Given the description of an element on the screen output the (x, y) to click on. 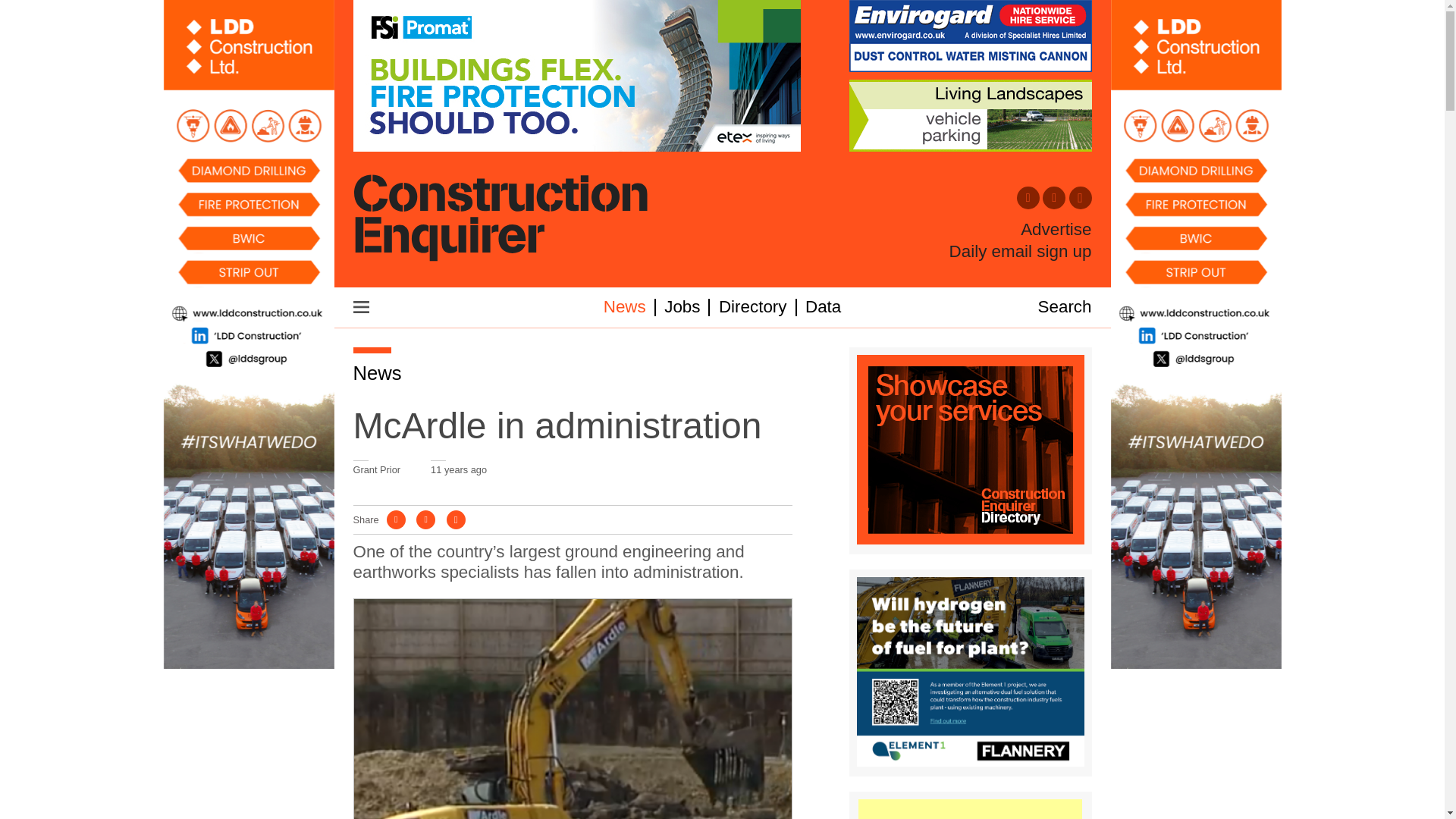
Search (1065, 306)
News (625, 306)
Construction Enquirer (500, 219)
Daily email sign up (1020, 251)
Data (823, 306)
Advertise (1055, 229)
Menu (361, 306)
News (377, 373)
Jobs (681, 306)
Directory (753, 306)
Advertisement (970, 809)
